Given the description of an element on the screen output the (x, y) to click on. 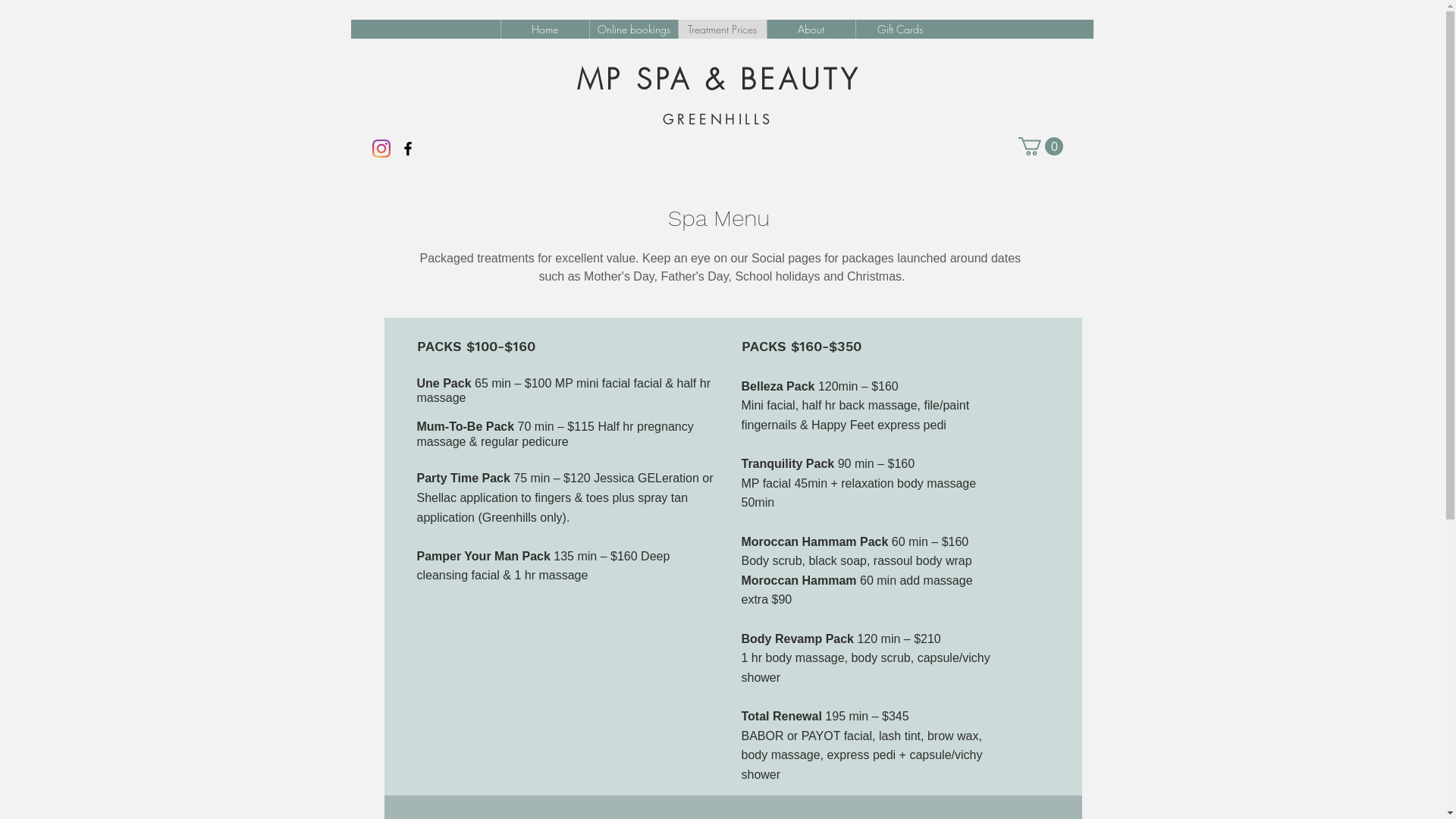
Gift Cards Element type: text (899, 28)
Treatment Prices Element type: text (721, 28)
Home Element type: text (544, 28)
Online bookings Element type: text (632, 28)
GREENHILLS Element type: text (717, 118)
MP SPA & BEAUTY Element type: text (718, 78)
About Element type: text (809, 28)
0 Element type: text (1039, 146)
